Given the description of an element on the screen output the (x, y) to click on. 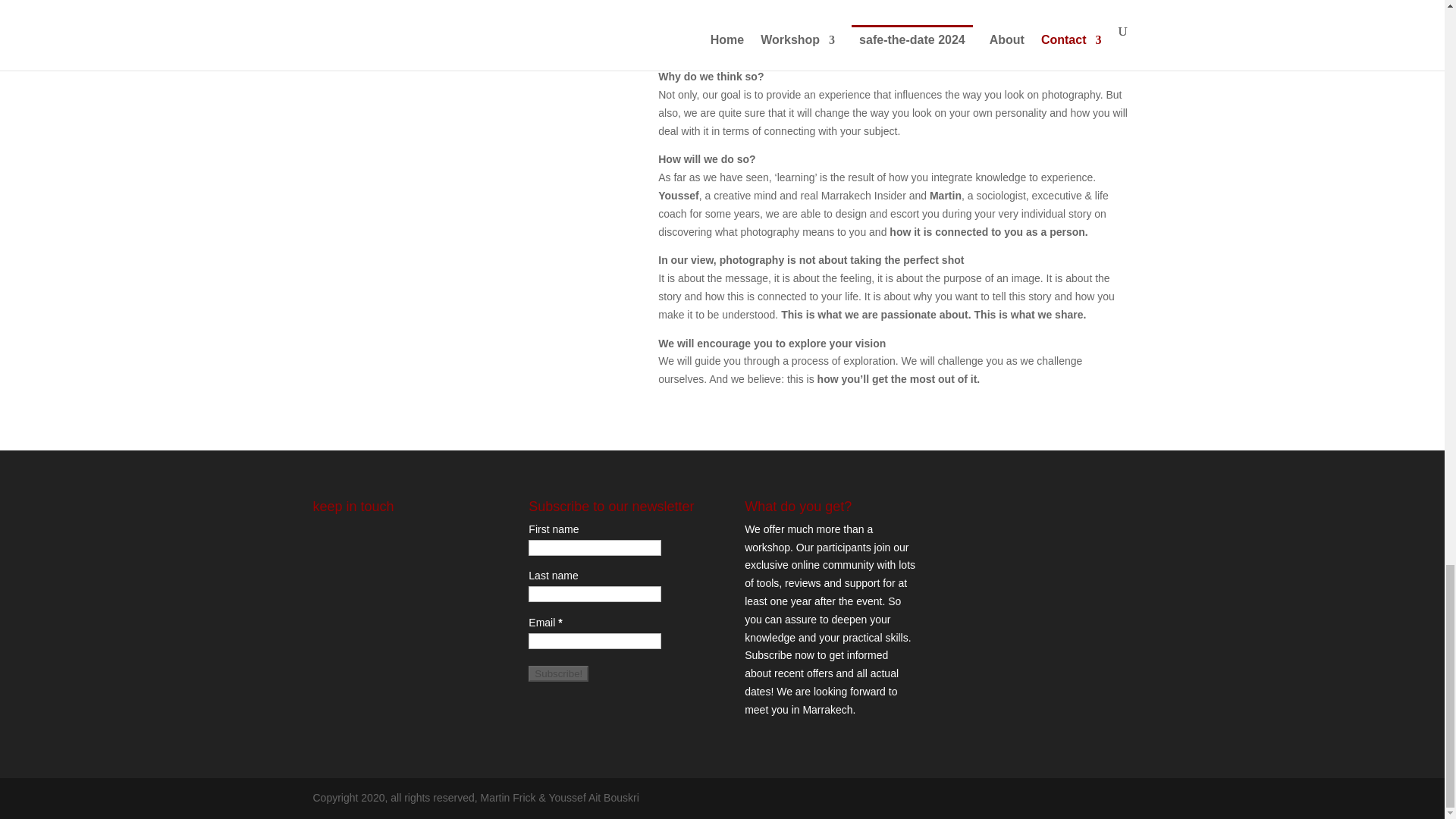
Subscribe! (558, 673)
Email (594, 641)
Subscribe! (558, 673)
Last name (594, 593)
First name (594, 547)
